Given the description of an element on the screen output the (x, y) to click on. 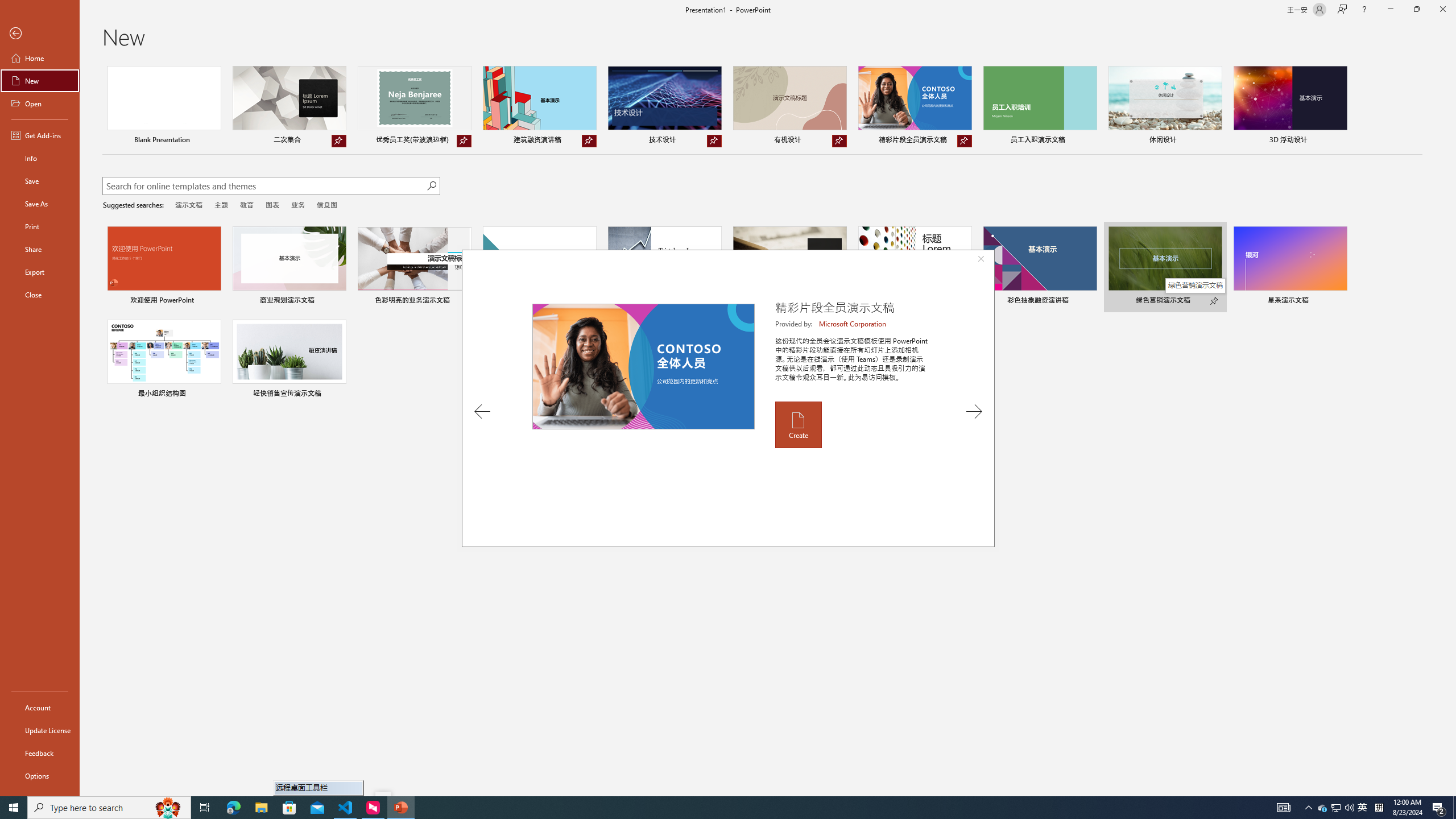
Unpin from list (964, 141)
Search for online templates and themes (264, 187)
Update License (40, 730)
Create (797, 424)
Preview (643, 366)
